Given the description of an element on the screen output the (x, y) to click on. 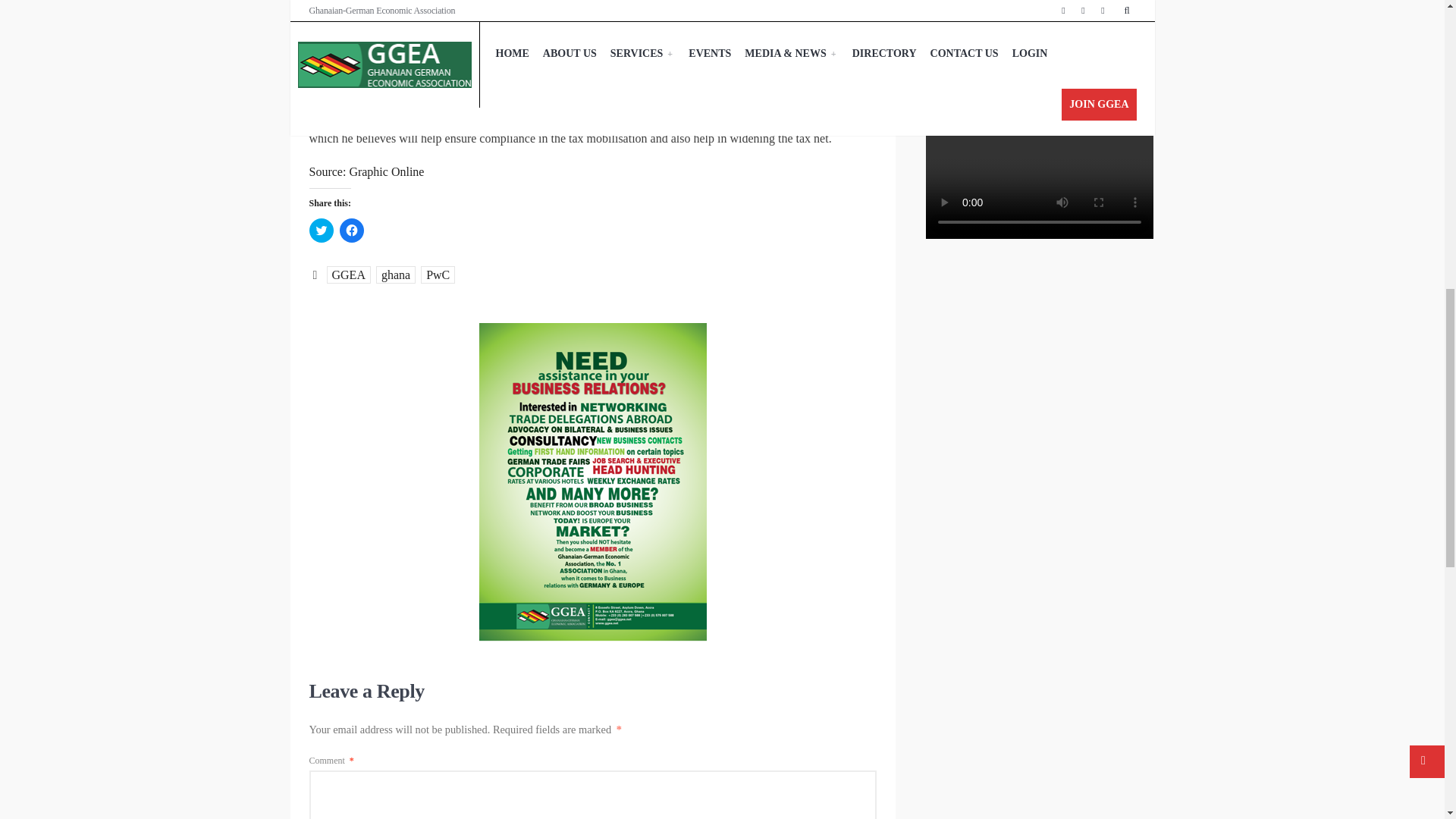
ghana (394, 274)
PwC (437, 274)
Click to share on Facebook (351, 230)
Click to share on Twitter (320, 230)
GGEA (347, 274)
